Given the description of an element on the screen output the (x, y) to click on. 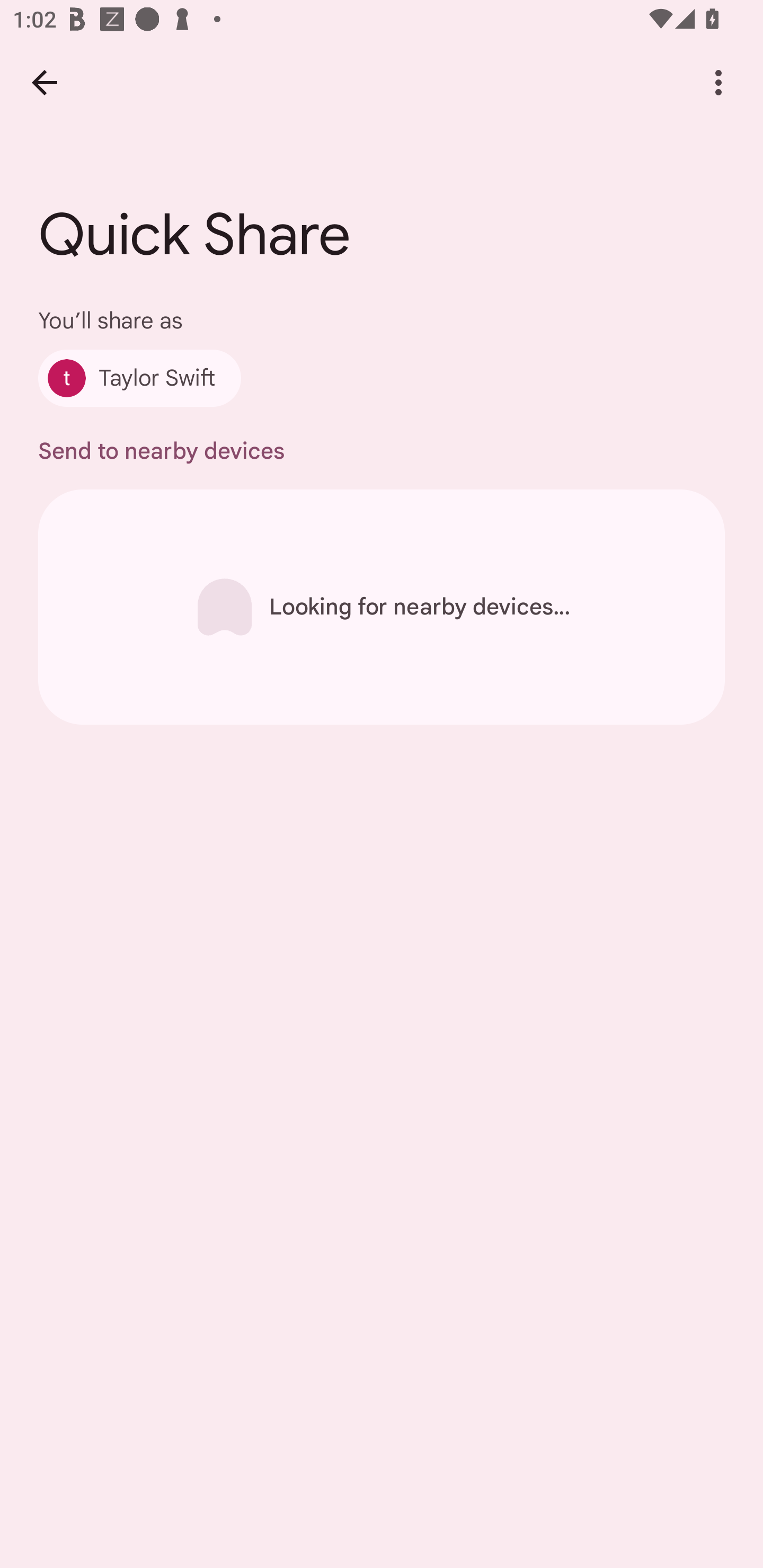
Back (44, 81)
More (718, 81)
Taylor Swift (139, 378)
